Given the description of an element on the screen output the (x, y) to click on. 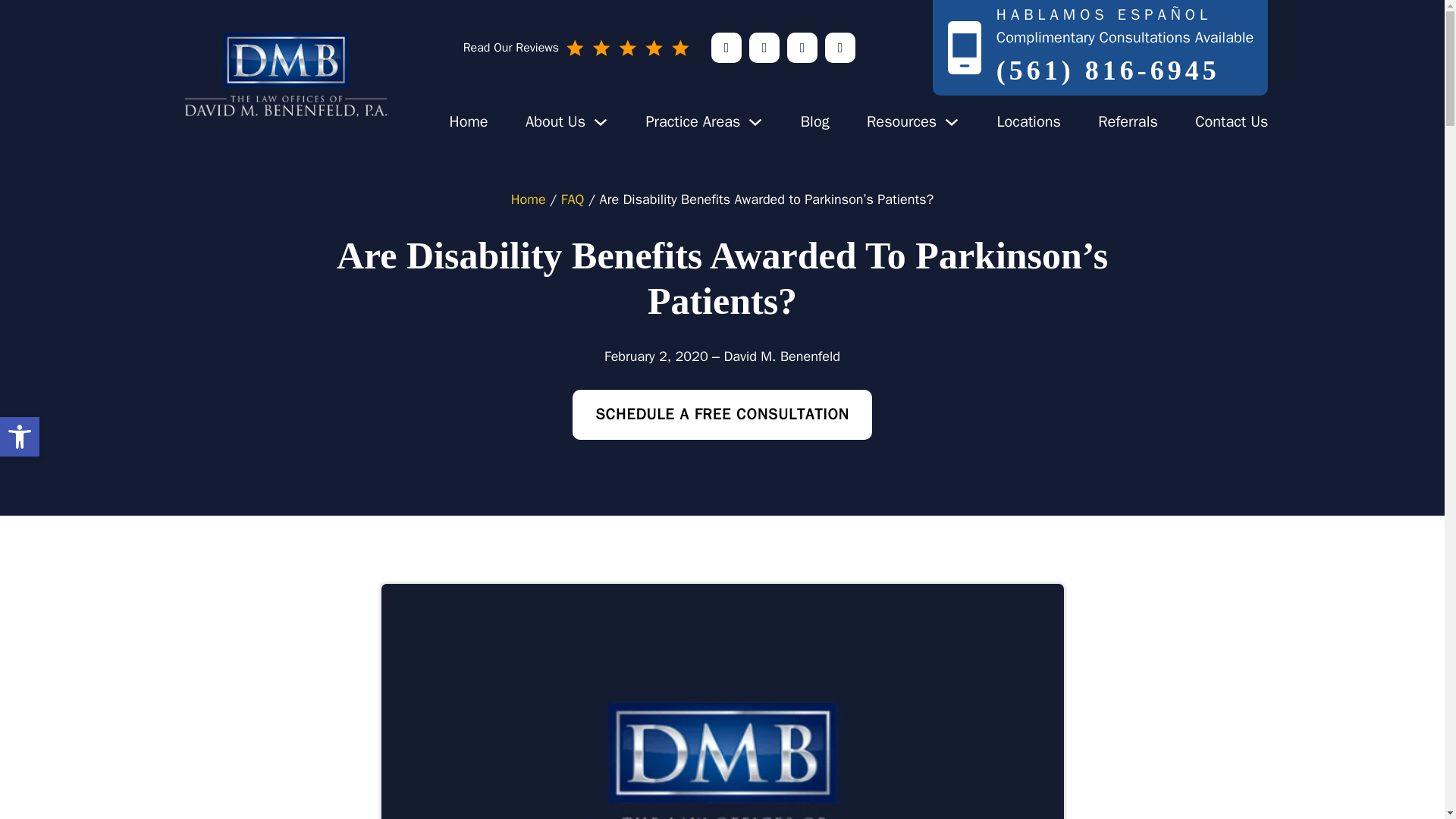
Injury Blog (814, 121)
Accessibility Tools (19, 436)
Home Page (467, 121)
About Us (555, 121)
Contact Us (1231, 121)
Accessibility Tools (19, 436)
Practice Areas (19, 436)
Home (692, 121)
Resources (467, 121)
Practice Areas (901, 121)
Read Our Reviews (692, 121)
